Given the description of an element on the screen output the (x, y) to click on. 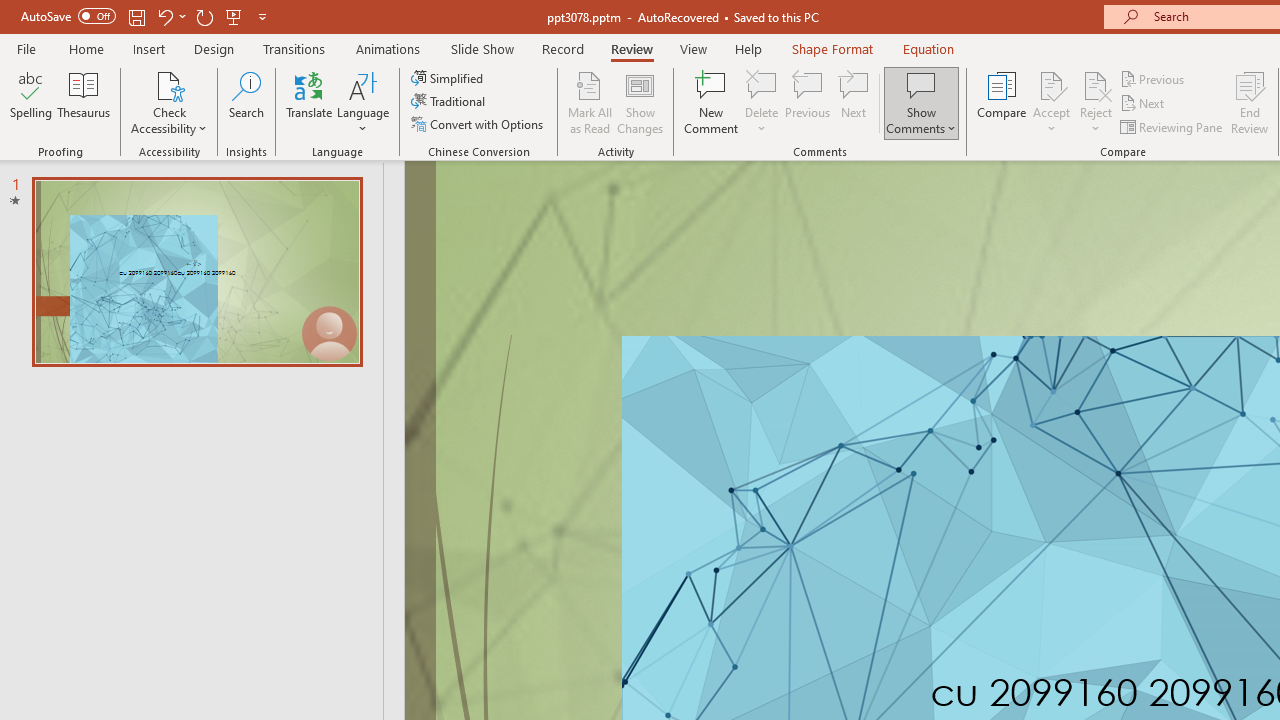
Reject (1096, 102)
Equation (928, 48)
Traditional (449, 101)
End Review (1249, 102)
